Given the description of an element on the screen output the (x, y) to click on. 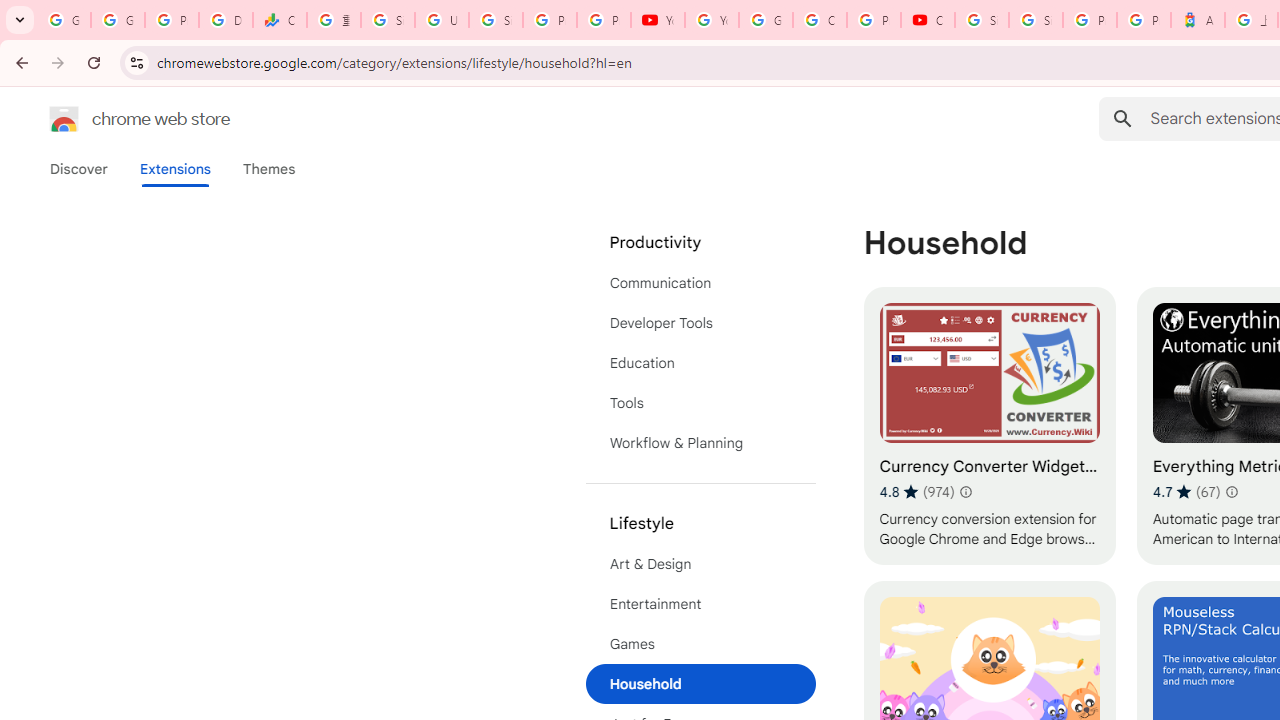
Art & Design (700, 563)
